Given the description of an element on the screen output the (x, y) to click on. 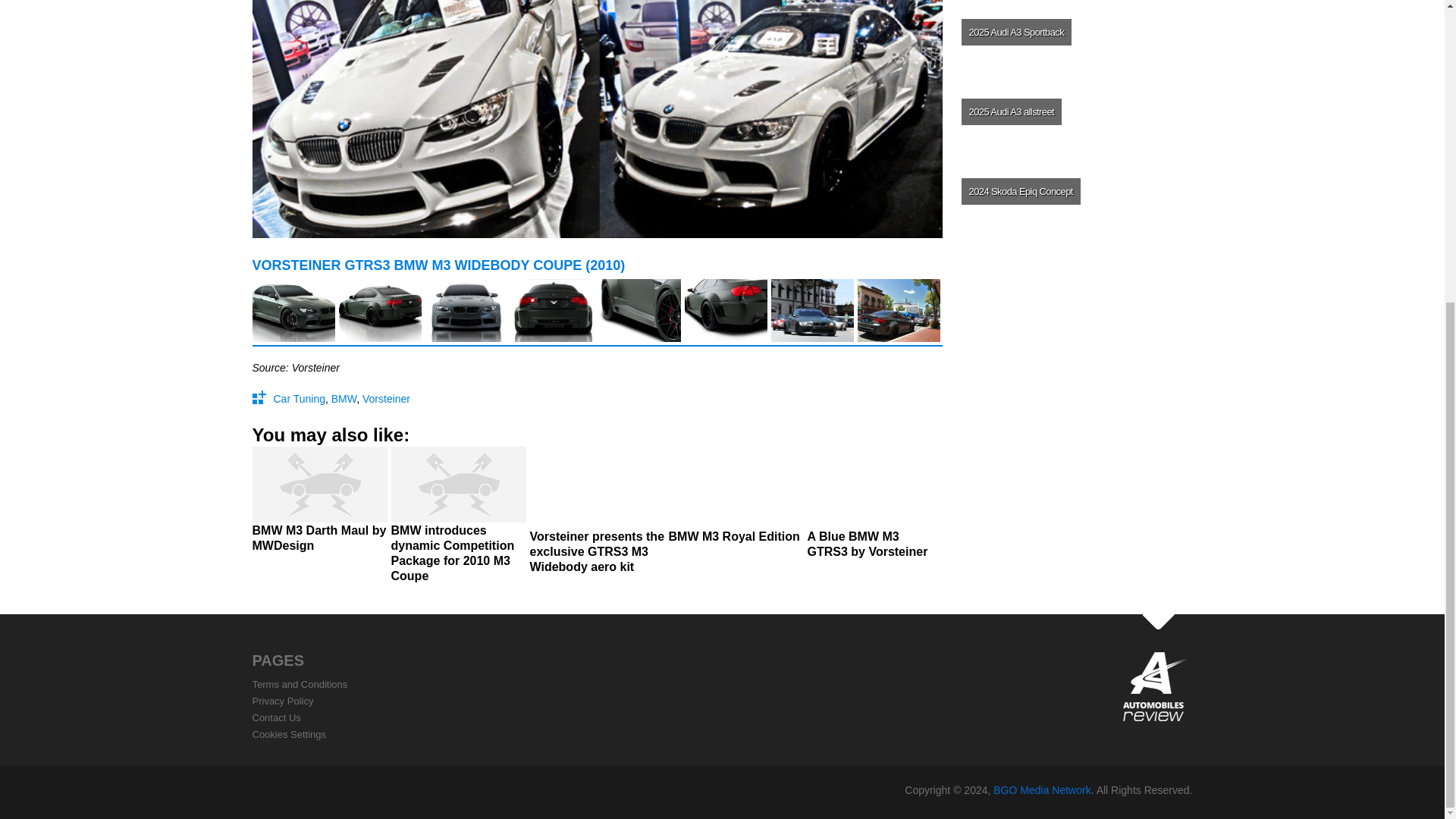
Audi A3 Sportback (1074, 34)
Vorsteiner presents the exclusive GTRS3 M3 Widebody aero kit (596, 516)
Terms and Conditions (299, 684)
BMW (343, 398)
A Blue BMW M3 GTRS3 by Vorsteiner (874, 508)
BMW M3 Darth Maul by MWDesign (319, 505)
Skoda Epiq Concept (1074, 191)
BMW M3 Royal Edition (735, 501)
BMW introduces dynamic Competition Package for 2010 M3 Coupe (458, 520)
